Given the description of an element on the screen output the (x, y) to click on. 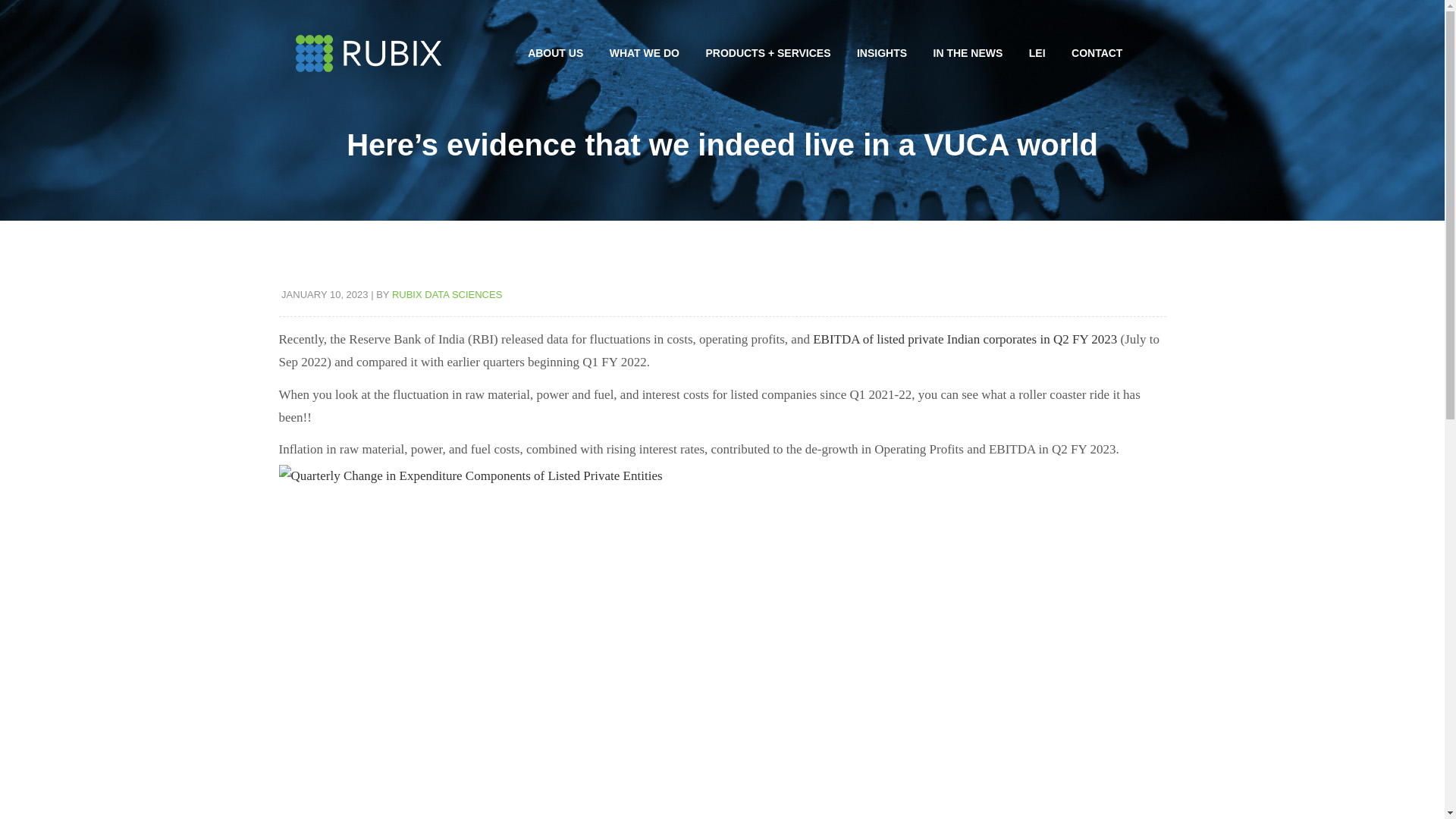
CONTACT (1096, 53)
IN THE NEWS (968, 53)
WHAT WE DO (644, 53)
INSIGHTS (882, 53)
ABOUT US (555, 53)
RUBIX DATA SCIENCES (446, 294)
Posts by Rubix Data Sciences (446, 294)
EBITDA of listed private Indian corporates in Q2 FY 2023 (964, 339)
